Given the description of an element on the screen output the (x, y) to click on. 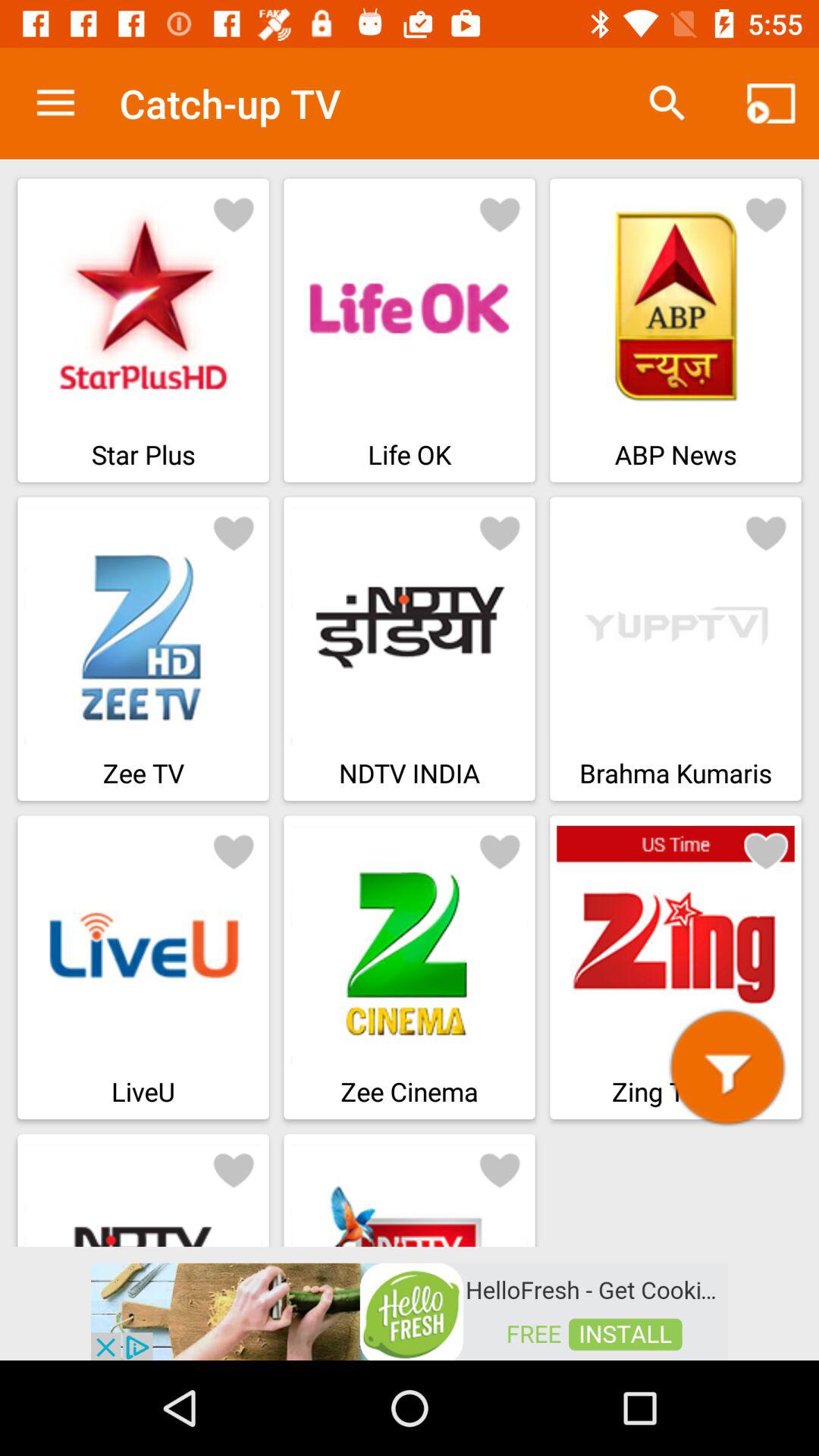
adding favorites heart button (766, 850)
